Given the description of an element on the screen output the (x, y) to click on. 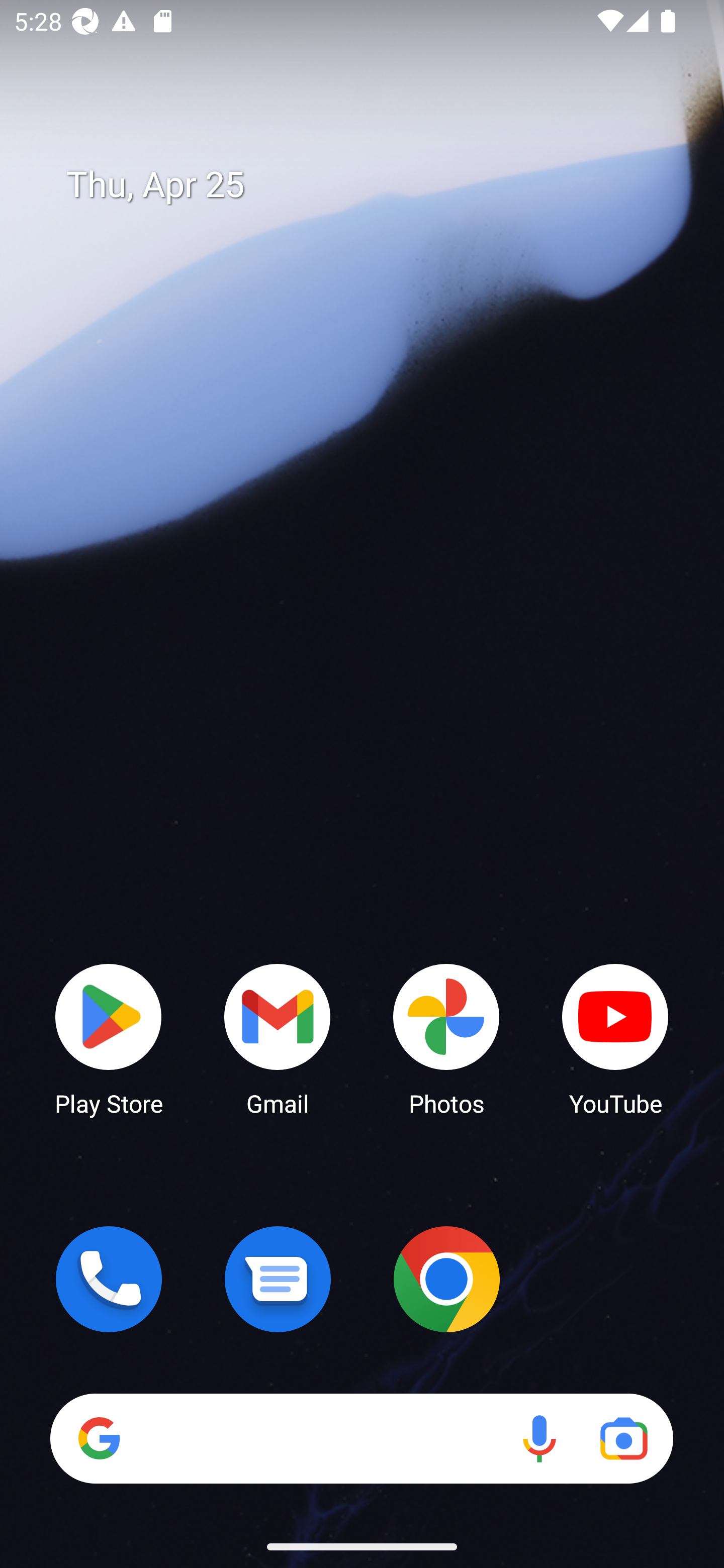
Thu, Apr 25 (375, 184)
Play Store (108, 1038)
Gmail (277, 1038)
Photos (445, 1038)
YouTube (615, 1038)
Phone (108, 1279)
Messages (277, 1279)
Chrome (446, 1279)
Search Voice search Google Lens (361, 1438)
Voice search (539, 1438)
Google Lens (623, 1438)
